Given the description of an element on the screen output the (x, y) to click on. 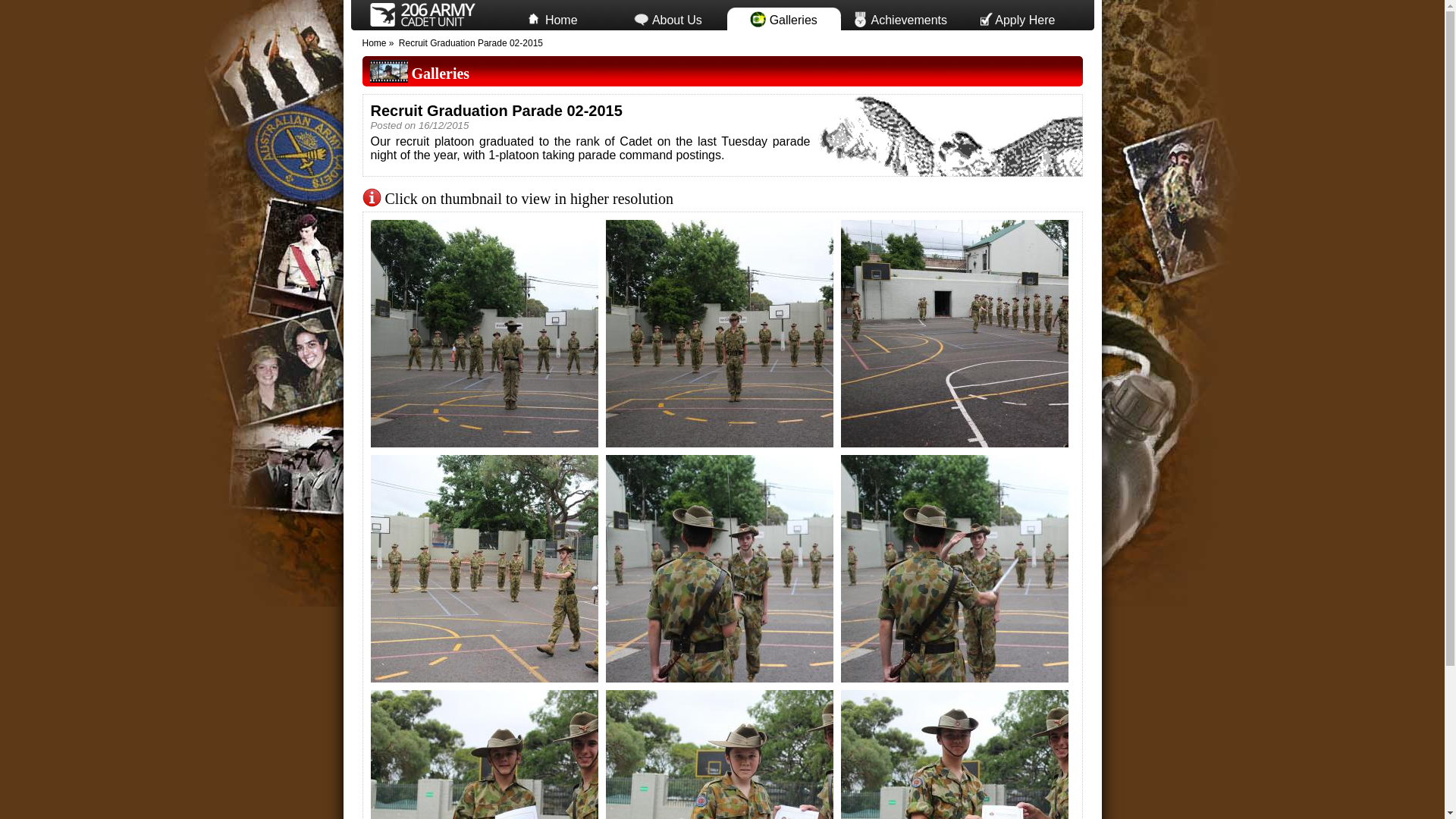
Achievements Element type: text (900, 17)
Home Element type: text (374, 42)
Apply Here Element type: text (1015, 17)
Home Element type: text (551, 17)
About Us Element type: text (667, 17)
Galleries Element type: text (440, 73)
Galleries Element type: text (783, 17)
